Given the description of an element on the screen output the (x, y) to click on. 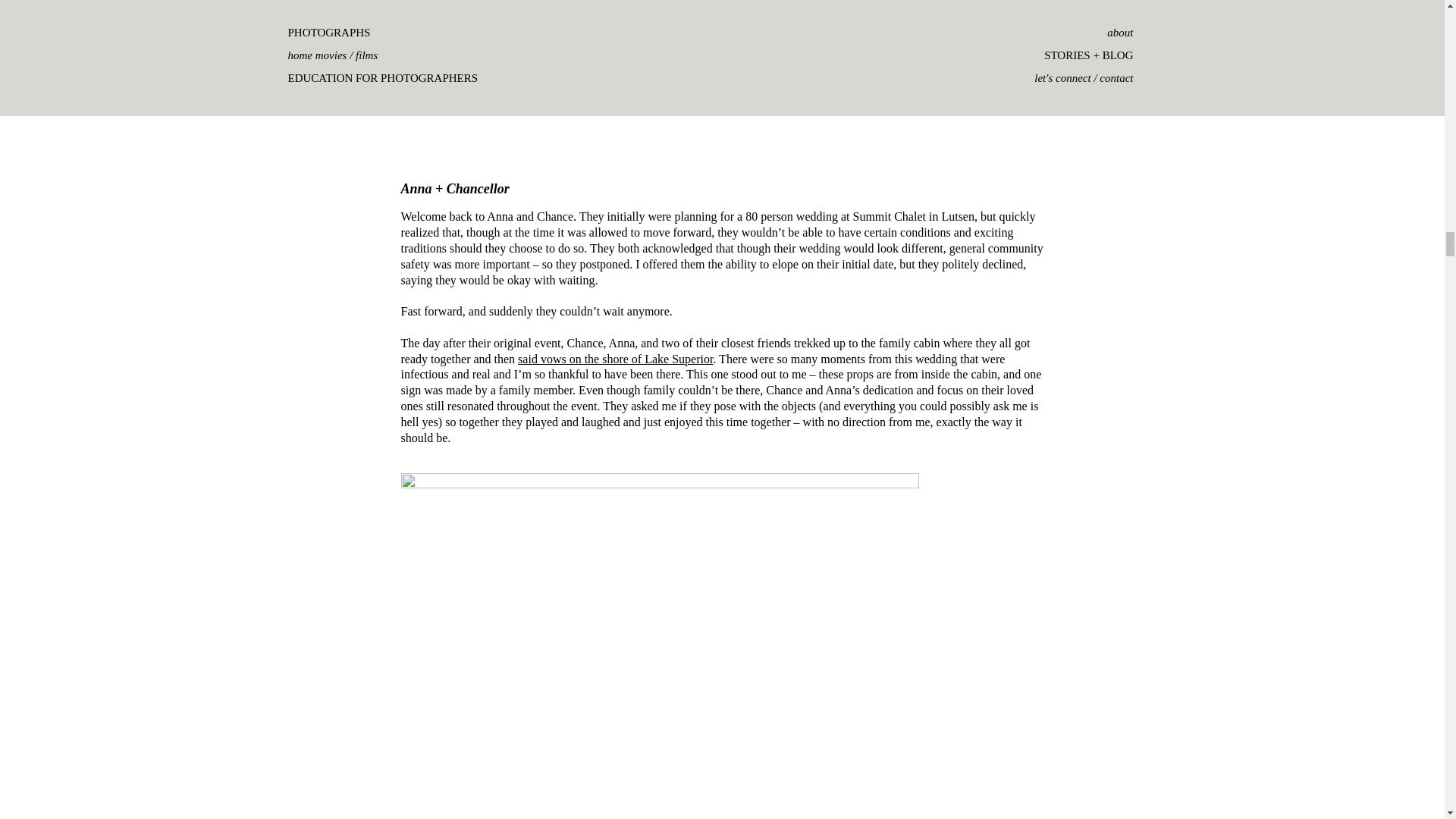
said vows on the shore of Lake Superior (615, 358)
